Given the description of an element on the screen output the (x, y) to click on. 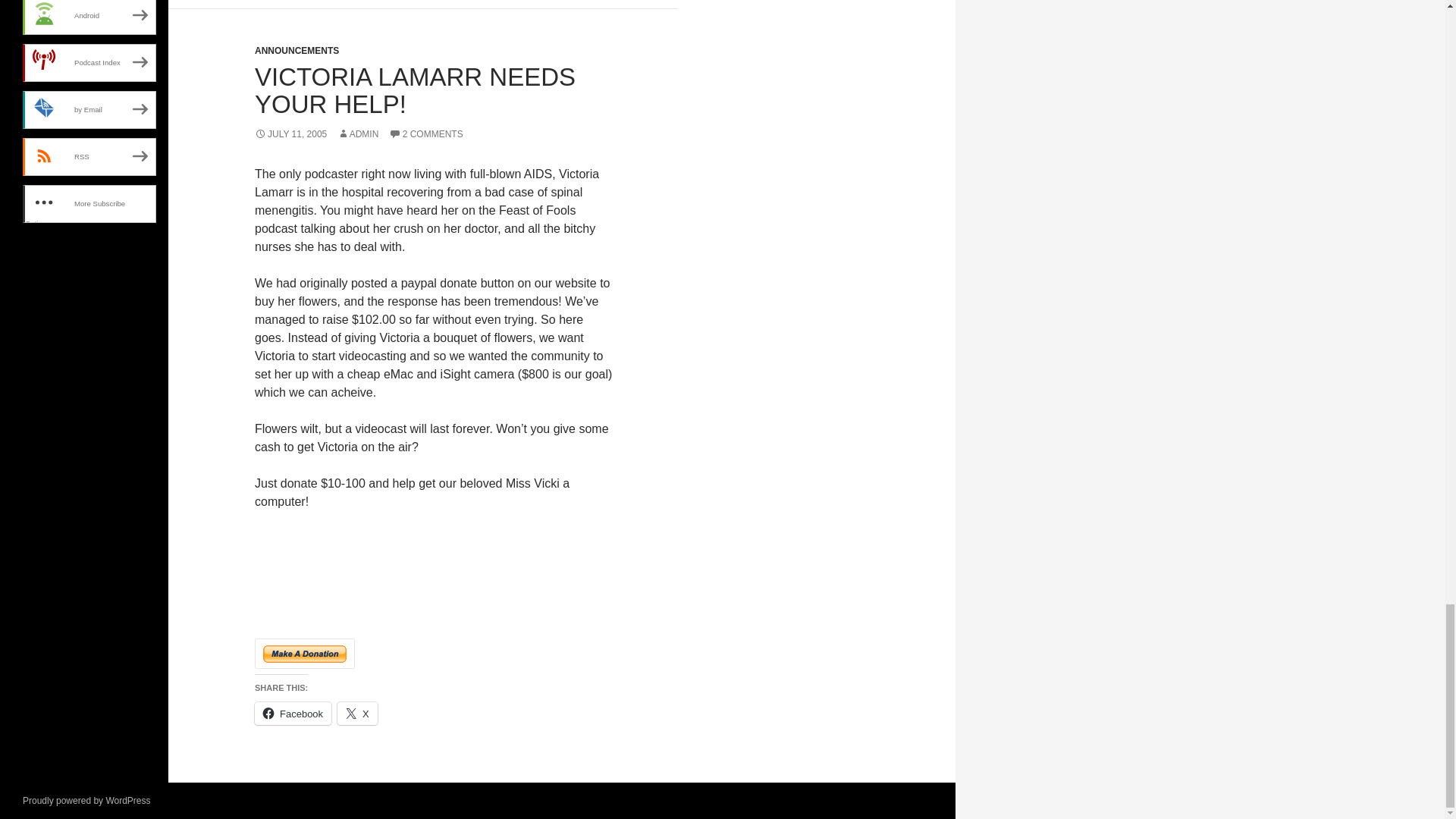
Click to share on X (357, 712)
Click to share on Facebook (292, 712)
